Given the description of an element on the screen output the (x, y) to click on. 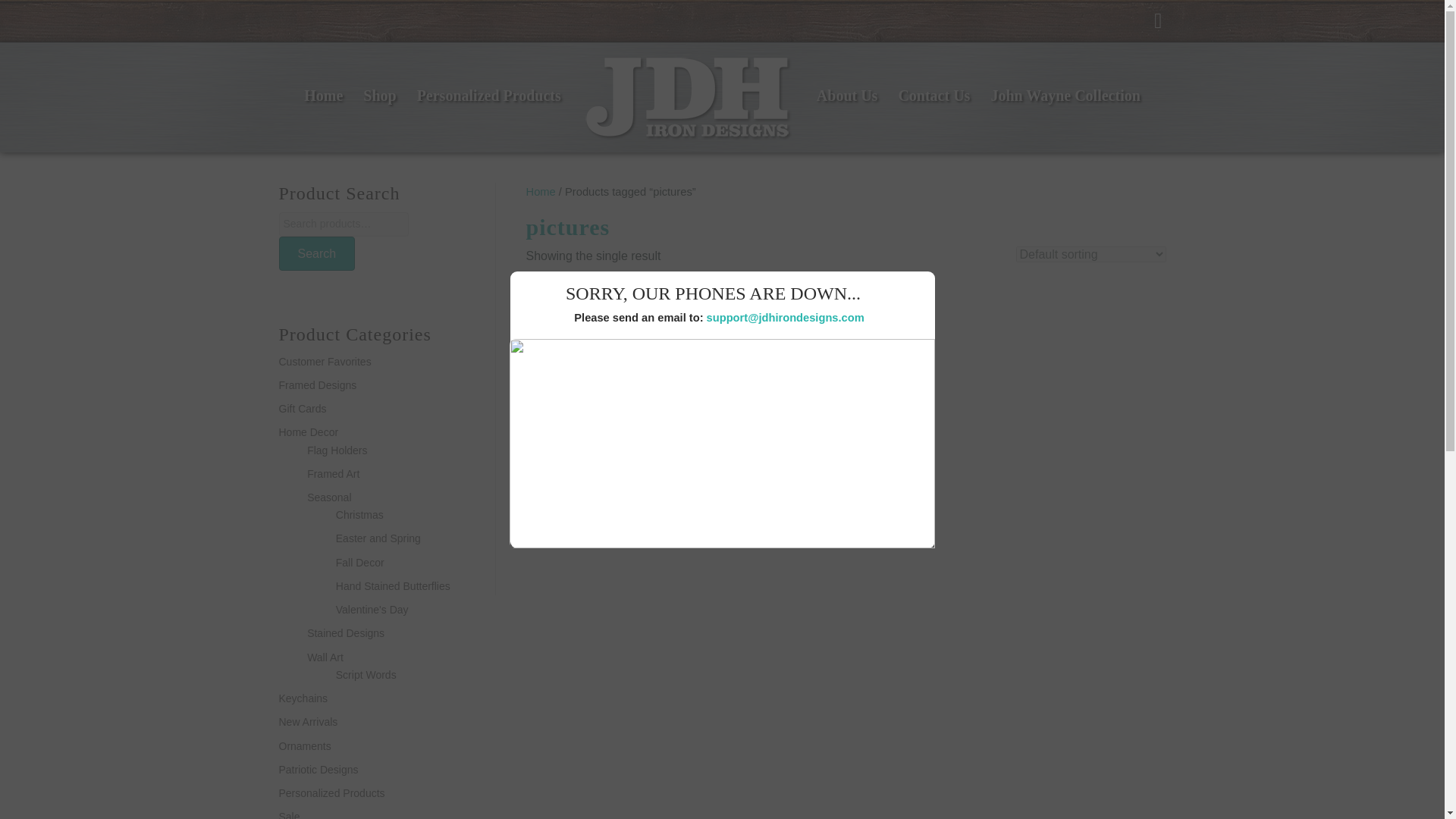
Shop (379, 95)
Home Decor (309, 431)
John Wayne Collection (1064, 95)
Christmas (360, 514)
Framed Art (333, 473)
Hand Stained Butterflies (392, 585)
About Us (847, 95)
Home (540, 191)
Seasonal (328, 497)
Select options (596, 534)
